Given the description of an element on the screen output the (x, y) to click on. 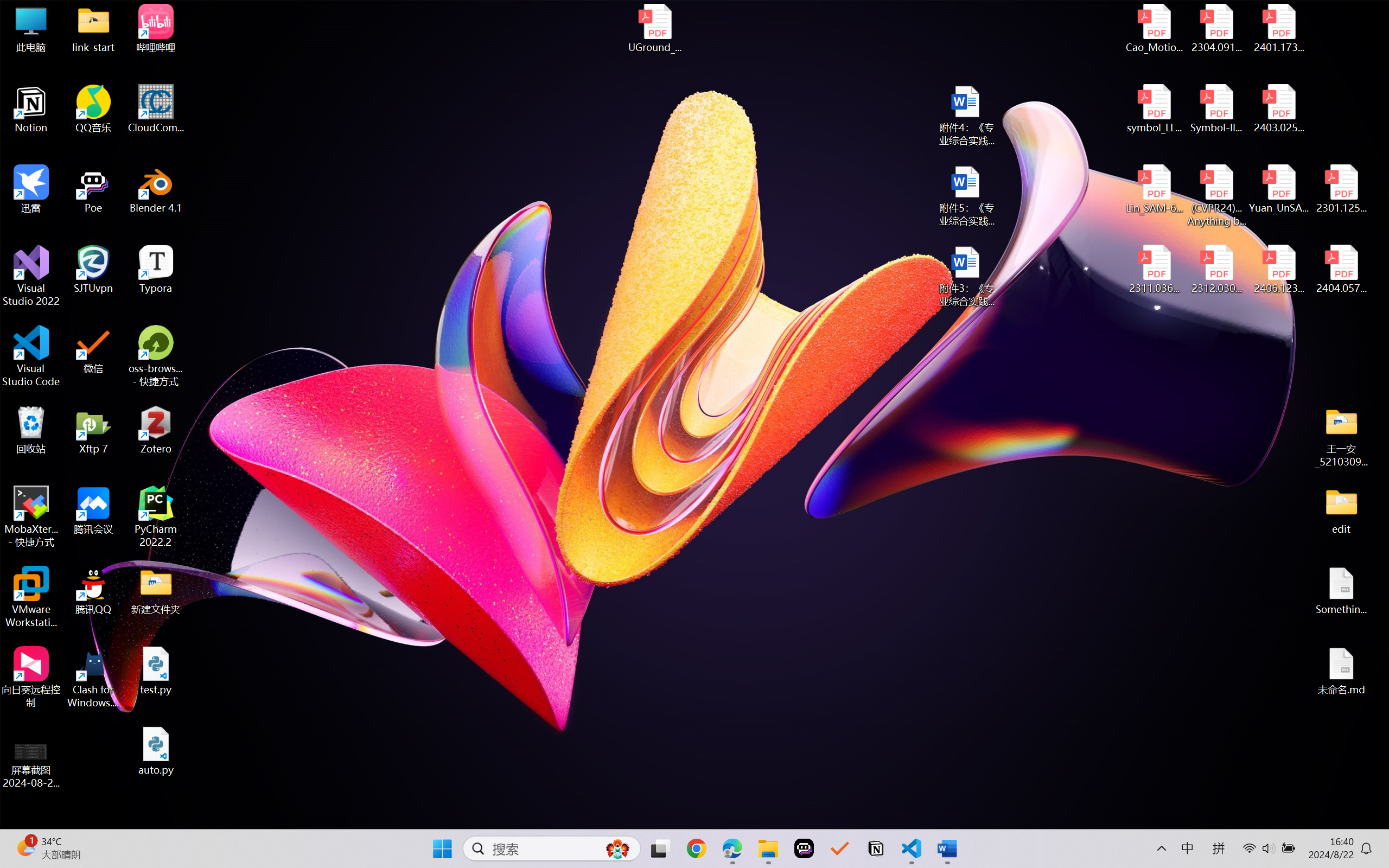
VMware Workstation Pro (31, 597)
2404.05719v1.pdf (1340, 269)
CloudCompare (156, 109)
Blender 4.1 (156, 189)
Visual Studio Code (31, 355)
